Given the description of an element on the screen output the (x, y) to click on. 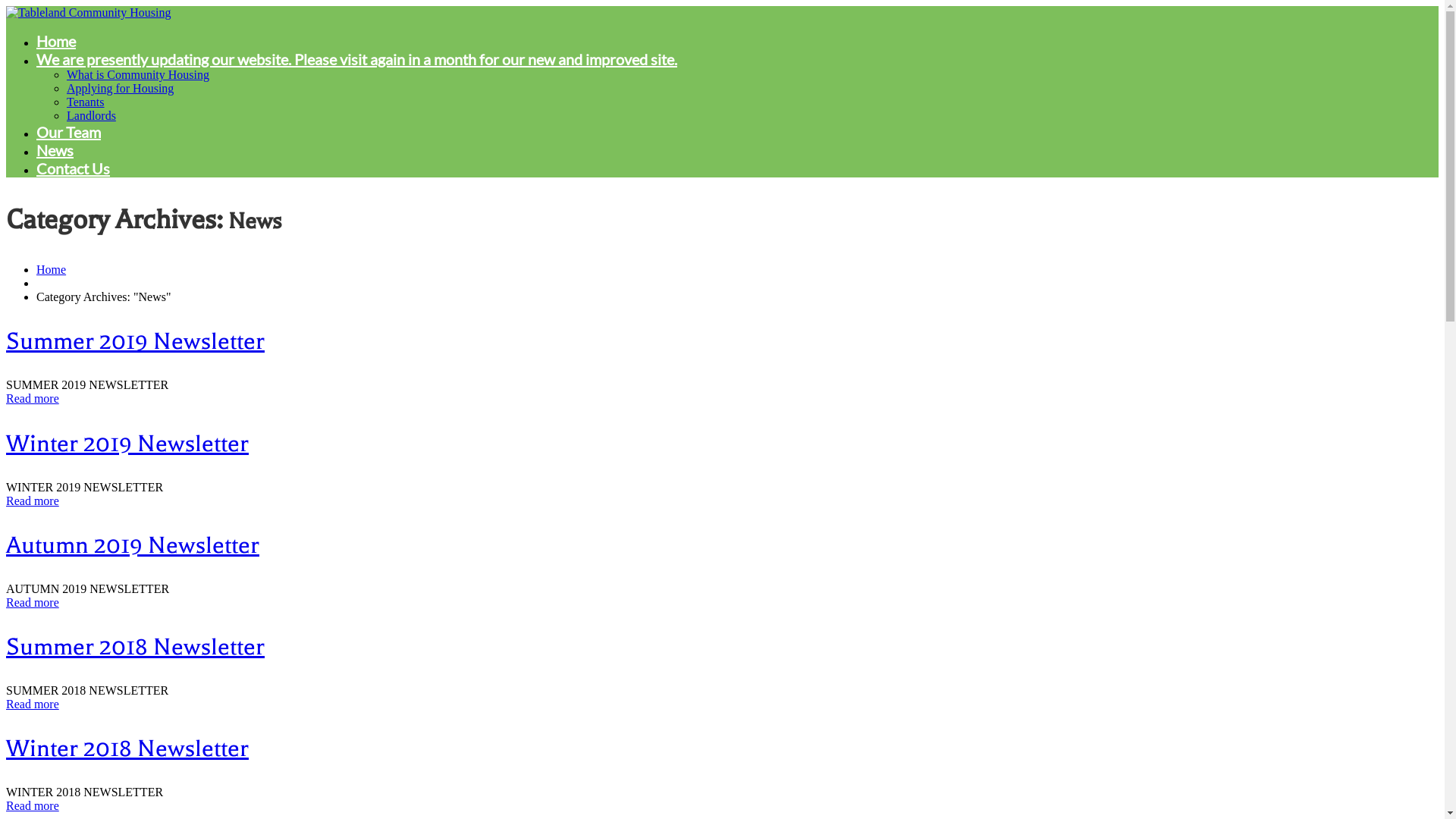
Read more Element type: text (32, 398)
Summer 2019 Newsletter Element type: text (135, 340)
Read more Element type: text (32, 500)
Landlords Element type: text (91, 115)
Read more Element type: text (32, 805)
Winter 2019 Newsletter Element type: text (127, 443)
Tenants Element type: text (85, 101)
Summer 2018 Newsletter Element type: text (135, 646)
Applying for Housing Element type: text (119, 87)
Autumn 2019 Newsletter Element type: text (132, 544)
Home Element type: text (50, 269)
Our Team Element type: text (68, 131)
Winter 2018 Newsletter Element type: text (127, 748)
Contact Us Element type: text (72, 168)
Read more Element type: text (32, 602)
Read more Element type: text (32, 703)
Home Element type: text (55, 40)
What is Community Housing Element type: text (137, 74)
News Element type: text (54, 150)
